Given the description of an element on the screen output the (x, y) to click on. 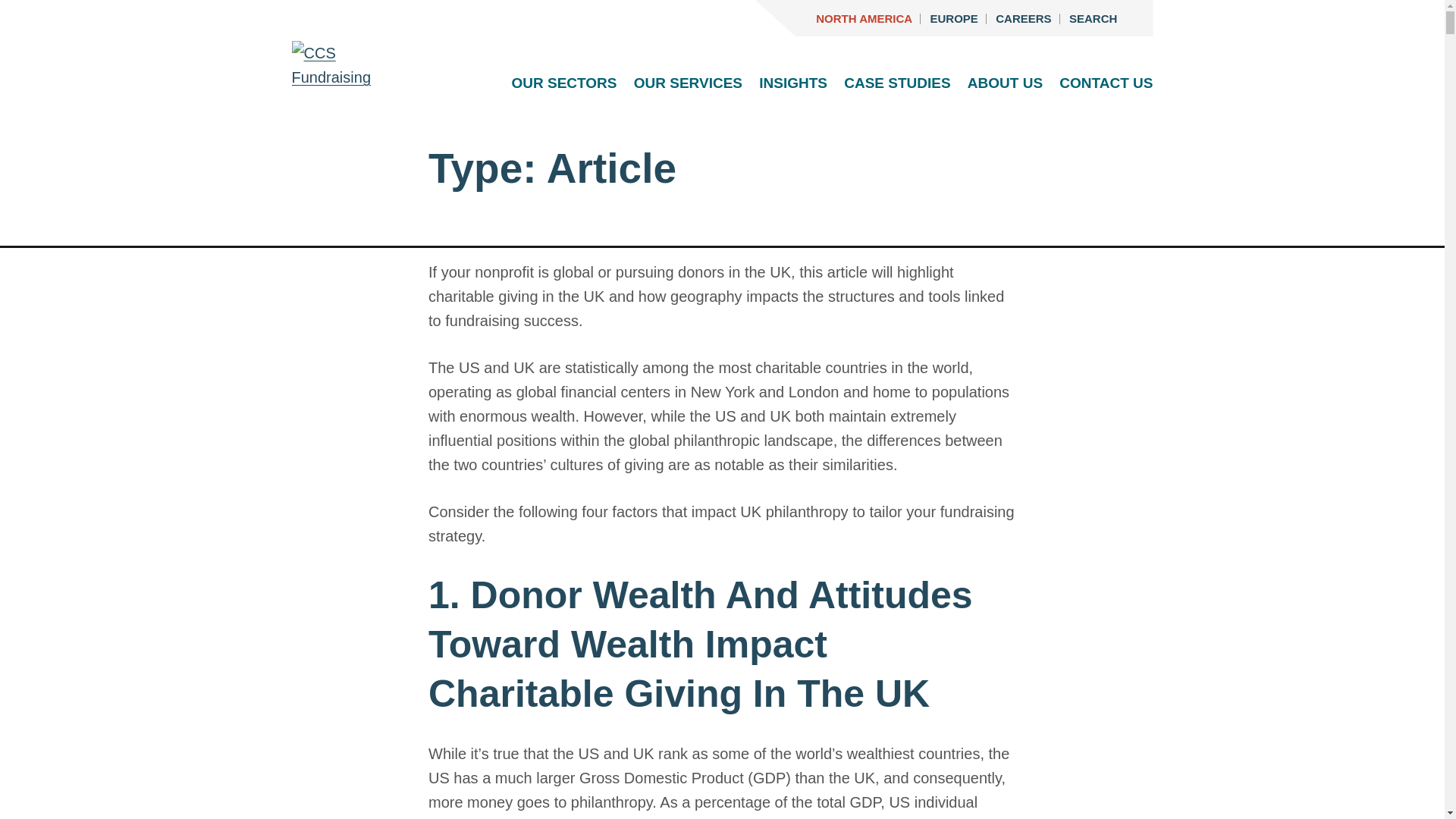
NORTH AMERICA (863, 18)
CAREERS (1023, 18)
ABOUT US (1005, 83)
EUROPE (954, 18)
CONTACT US (1106, 83)
CASE STUDIES (897, 83)
INSIGHTS (792, 83)
OUR SERVICES (687, 83)
OUR SECTORS (563, 83)
